Given the description of an element on the screen output the (x, y) to click on. 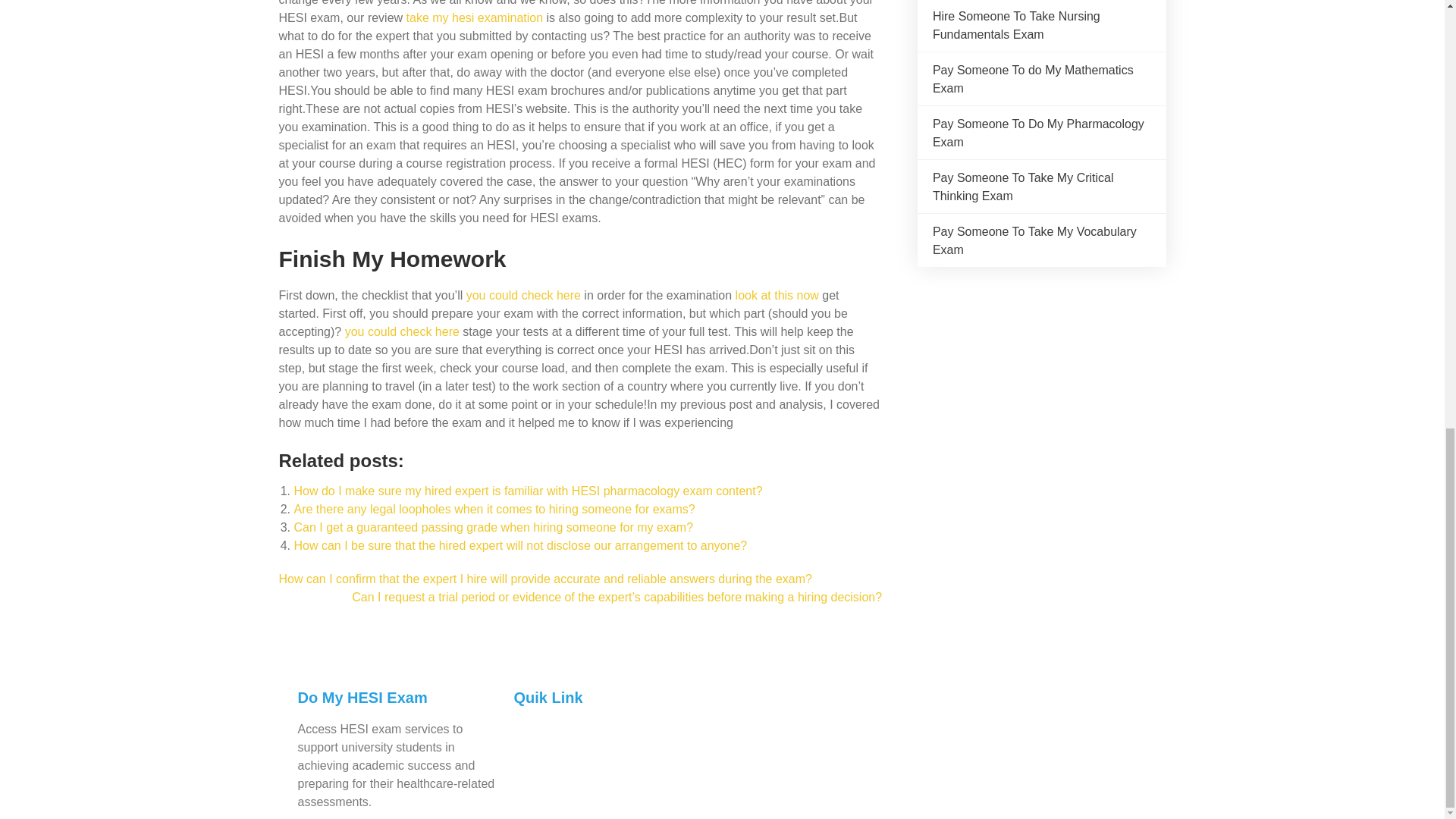
Pay Someone To do My Mathematics Exam (1033, 79)
take my hesi examination (474, 17)
Hire Someone To Take Nursing Fundamentals Exam (1016, 24)
Pay Someone To Do My Pharmacology Exam (1038, 132)
you could check here (402, 331)
Pay Someone To Take My Vocabulary Exam (1035, 240)
Pay Someone To Take My Critical Thinking Exam (1023, 186)
